Given the description of an element on the screen output the (x, y) to click on. 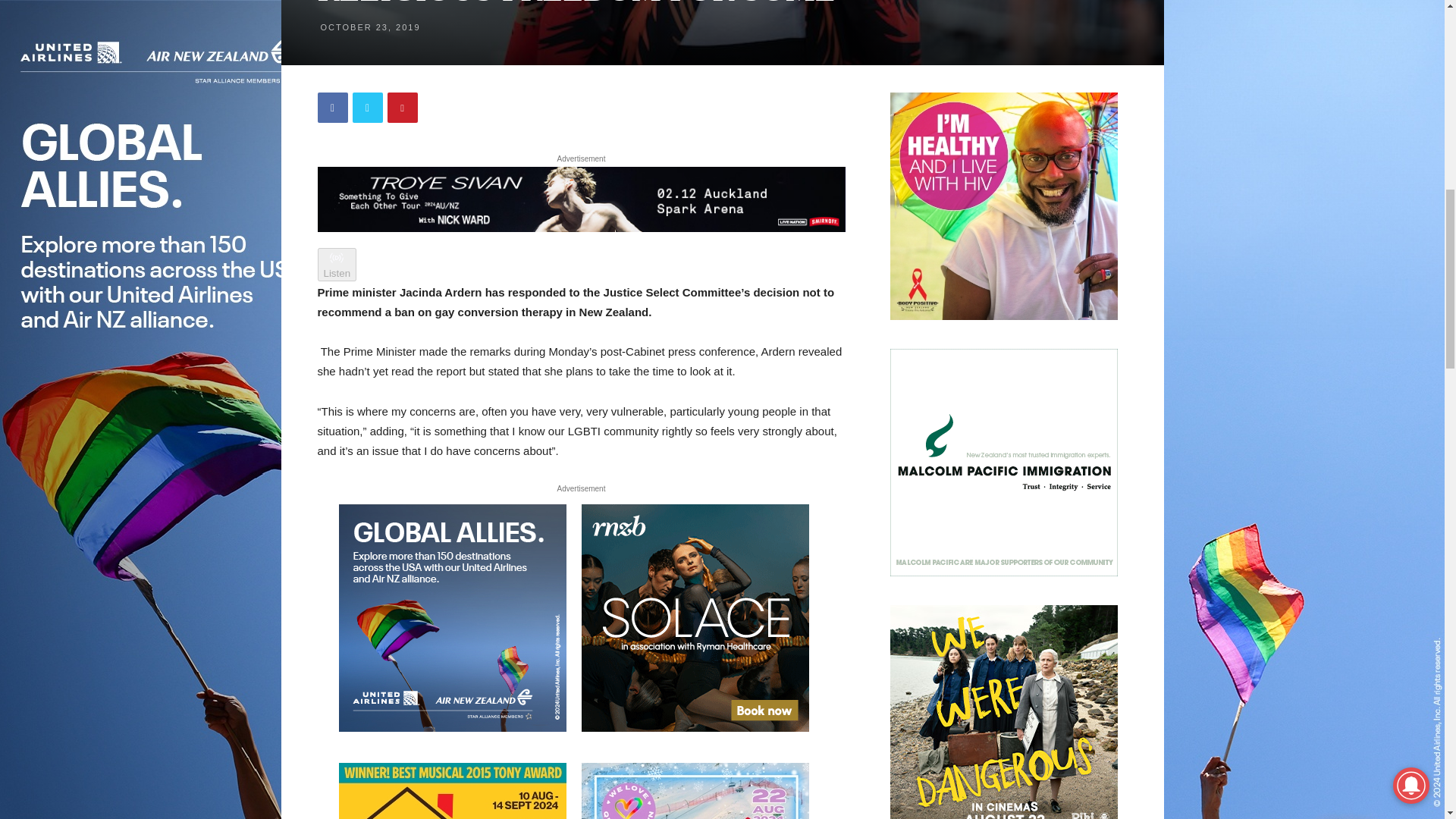
Facebook (332, 107)
Pinterest (401, 107)
Twitter (366, 107)
